Given the description of an element on the screen output the (x, y) to click on. 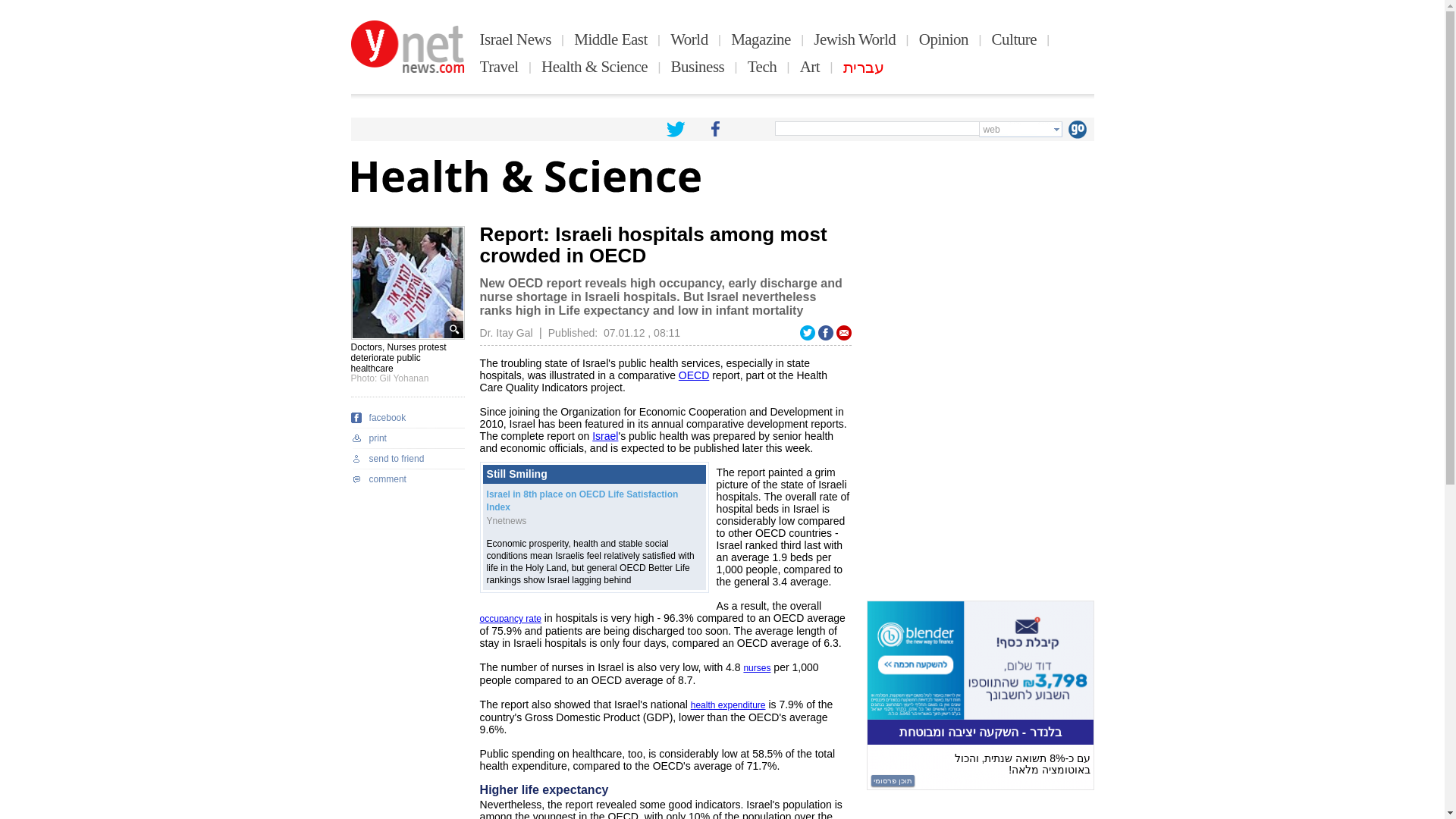
Ynetnews - news and updates 24 hours (407, 46)
Travel (499, 66)
Business (698, 66)
Jewish World (854, 39)
Tech (762, 66)
3rd party ad content (980, 320)
Ynetnews on Twitter (675, 129)
Magazine (760, 39)
Culture (1013, 39)
Opinion (943, 39)
Israel News (515, 39)
3rd party ad content (980, 695)
Middle East (610, 39)
World (688, 39)
Art (810, 66)
